Given the description of an element on the screen output the (x, y) to click on. 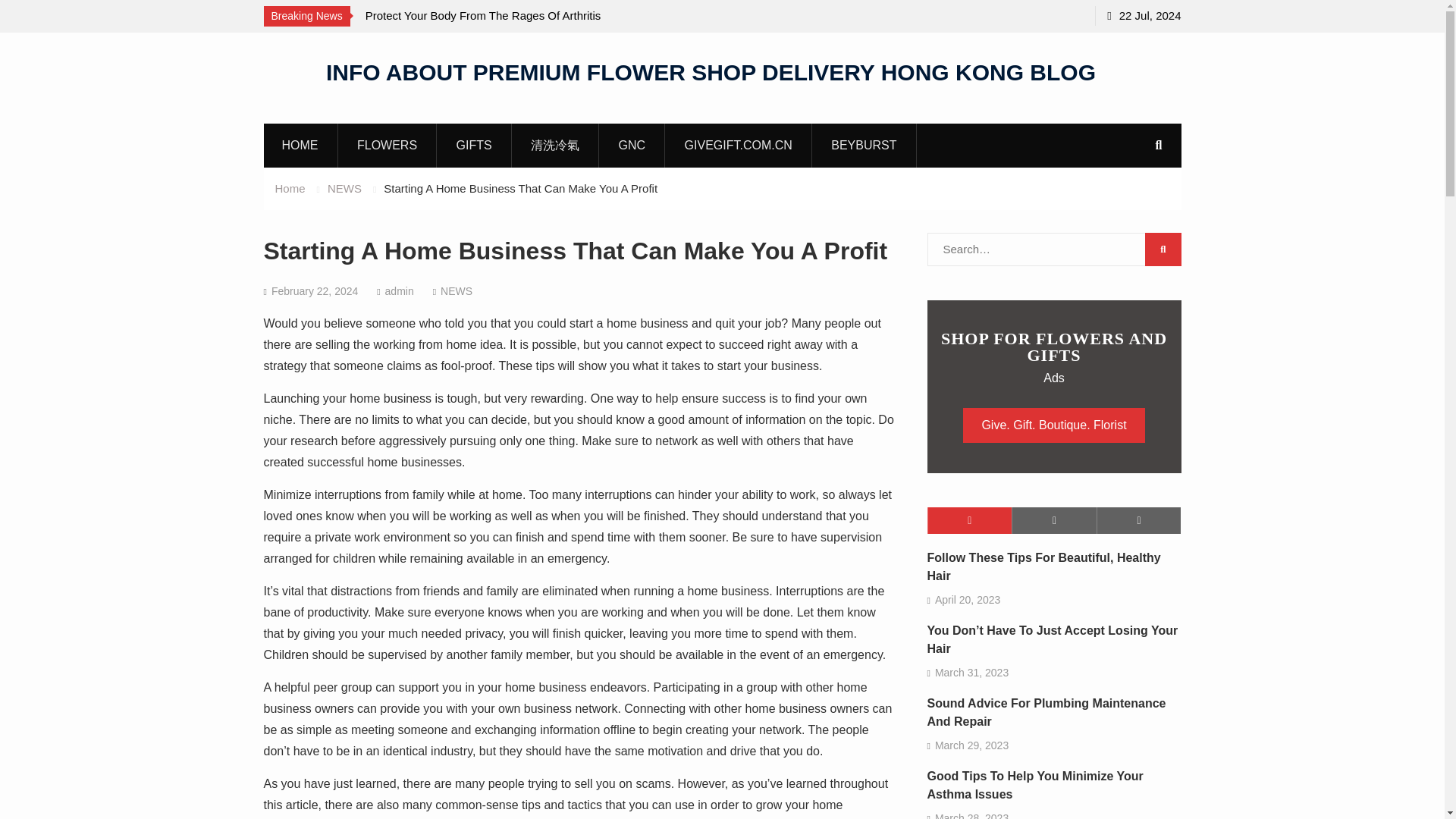
GNC (632, 144)
GIVEGIFT.COM.CN (738, 144)
HOME (299, 144)
FLOWERS (386, 144)
GIFTS (475, 144)
Protect Your Body From The Rages Of Arthritis (483, 15)
BEYBURST (863, 144)
February 22, 2024 (314, 291)
Search for: (1053, 249)
INFO ABOUT PREMIUM FLOWER SHOP DELIVERY HONG KONG BLOG (711, 71)
NEWS (456, 291)
NEWS (344, 187)
Home (289, 187)
admin (399, 291)
